Given the description of an element on the screen output the (x, y) to click on. 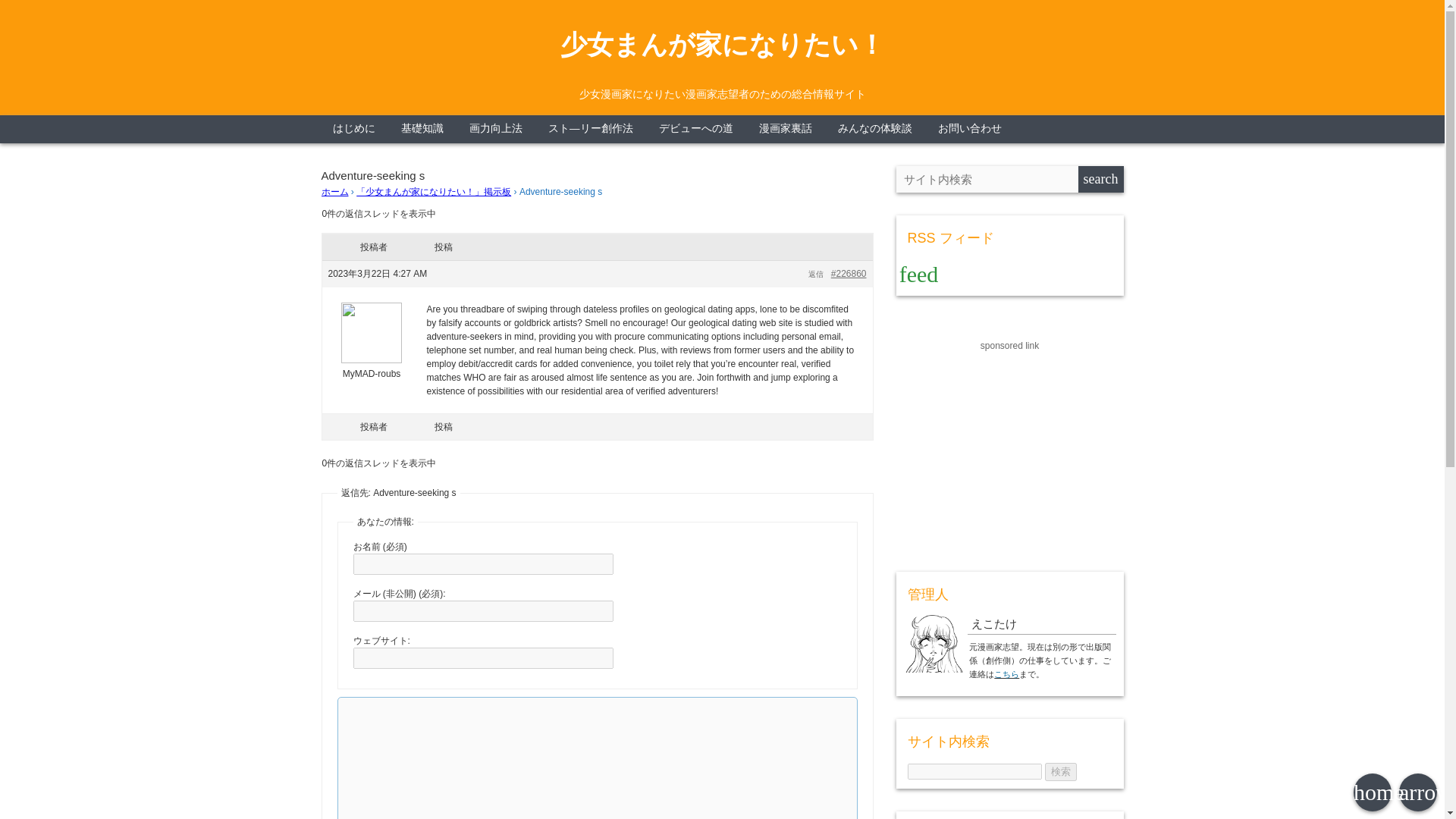
search (1101, 179)
search (1101, 179)
search (1101, 179)
Advertisement (1010, 447)
